Given the description of an element on the screen output the (x, y) to click on. 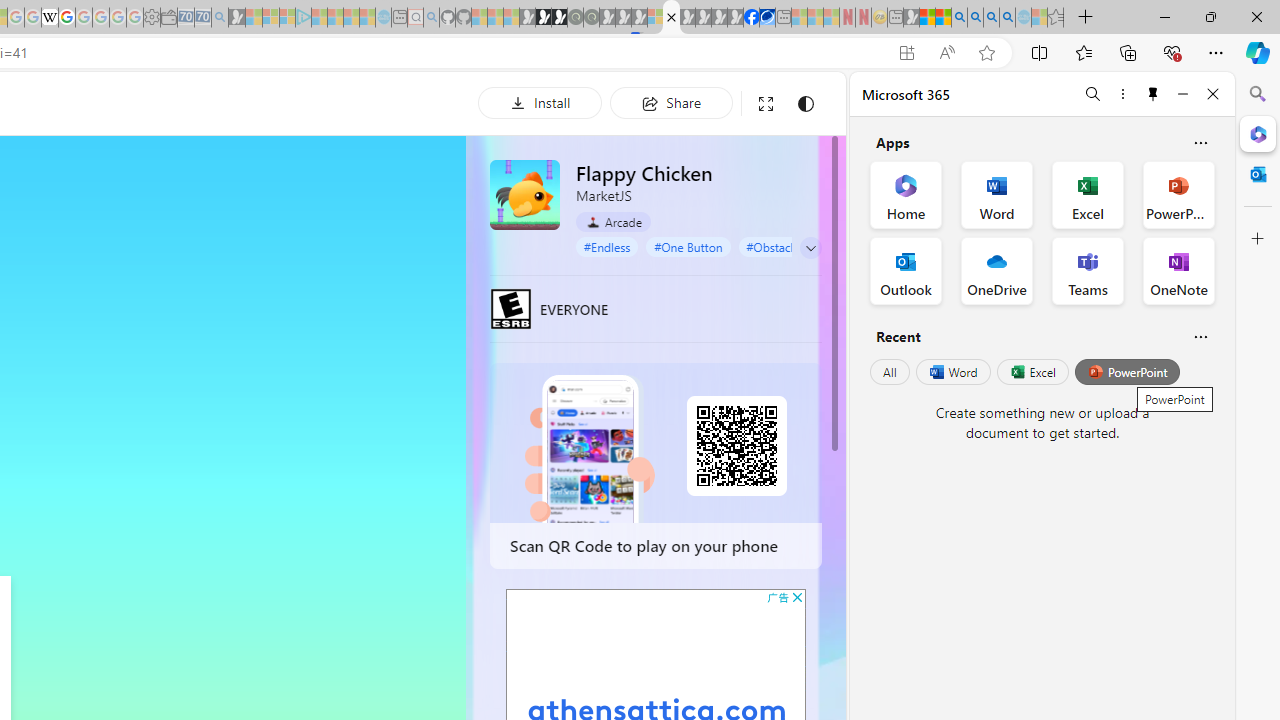
OneDrive Office App (996, 270)
Close Microsoft 365 pane (1258, 133)
Sign in to your account - Sleeping (655, 17)
AirNow.gov (767, 17)
Install (540, 102)
Full screen (765, 103)
Unpin side pane (1153, 93)
github - Search - Sleeping (431, 17)
Target page - Wikipedia (49, 17)
Outlook Office App (906, 270)
